Given the description of an element on the screen output the (x, y) to click on. 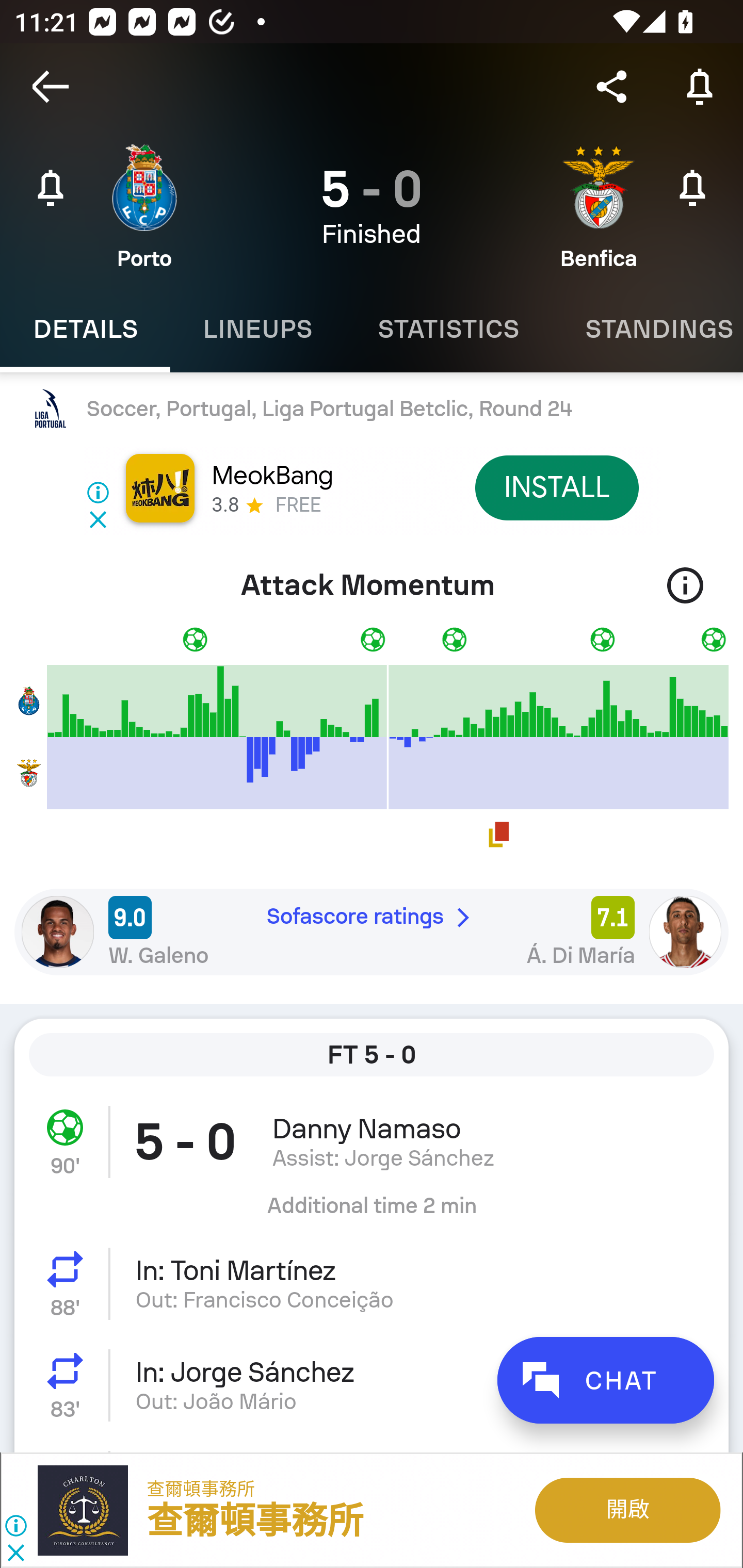
Navigate up (50, 86)
Lineups LINEUPS (257, 329)
Statistics STATISTICS (448, 329)
Standings STANDINGS (647, 329)
Soccer, Portugal, Liga Portugal Betclic, Round 24 (371, 409)
INSTALL (556, 487)
MeokBang (271, 475)
9.0 Sofascore ratings 7.1 W. Galeno Á. Di María (371, 932)
FT 5 - 0 (371, 1055)
Additional time 2 min (371, 1212)
Substitution In: Jorge Sánchez 83' Out: João Mário (371, 1385)
CHAT (605, 1380)
www.charltondivorce (92, 1509)
查爾頓事務所 (200, 1488)
開啟 (626, 1509)
查爾頓事務所 (254, 1521)
